Given the description of an element on the screen output the (x, y) to click on. 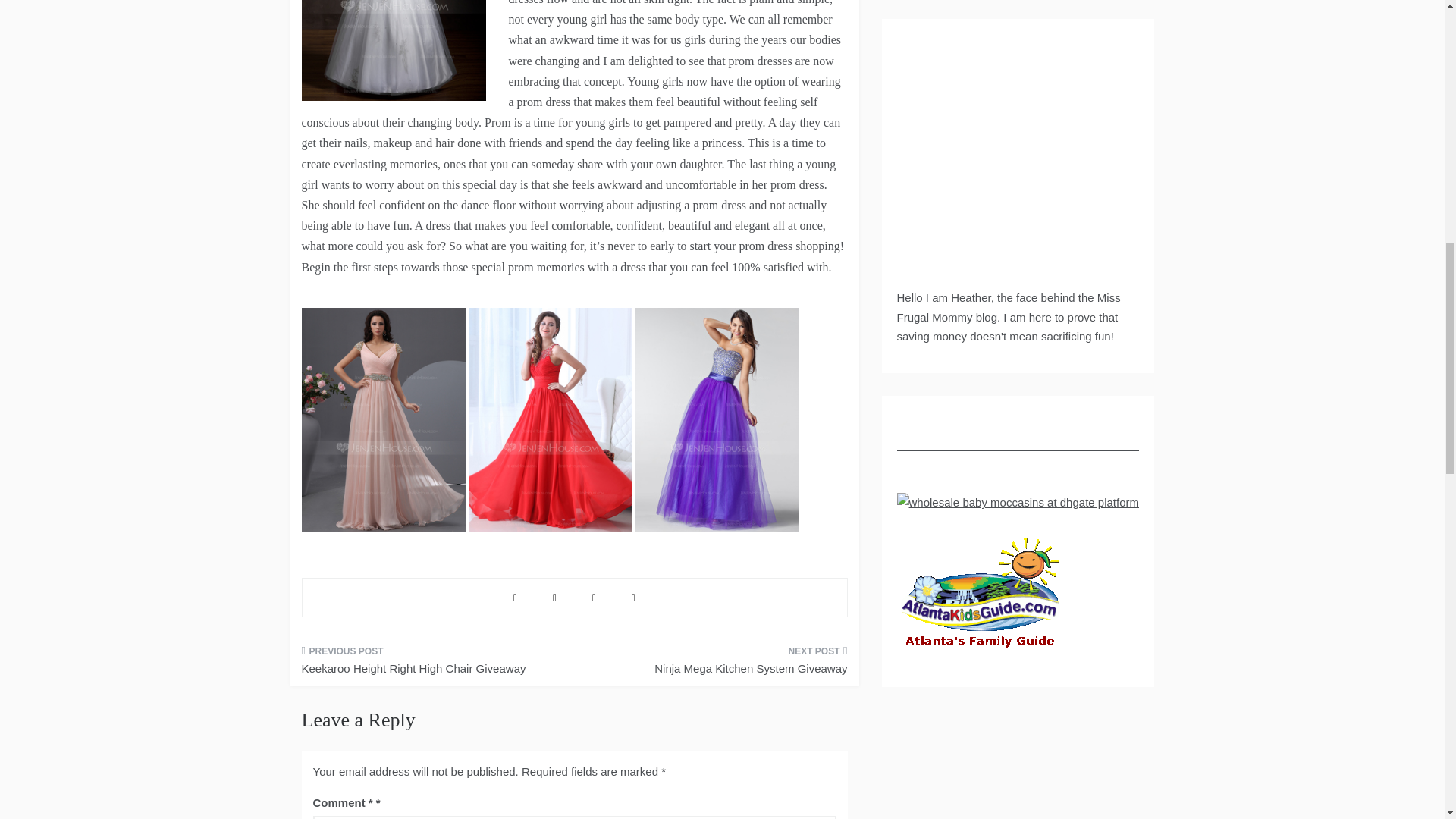
Keekaroo Height Right High Chair Giveaway (432, 664)
Ninja Mega Kitchen System Giveaway (716, 664)
Atlanta Kids Guide (980, 595)
